Given the description of an element on the screen output the (x, y) to click on. 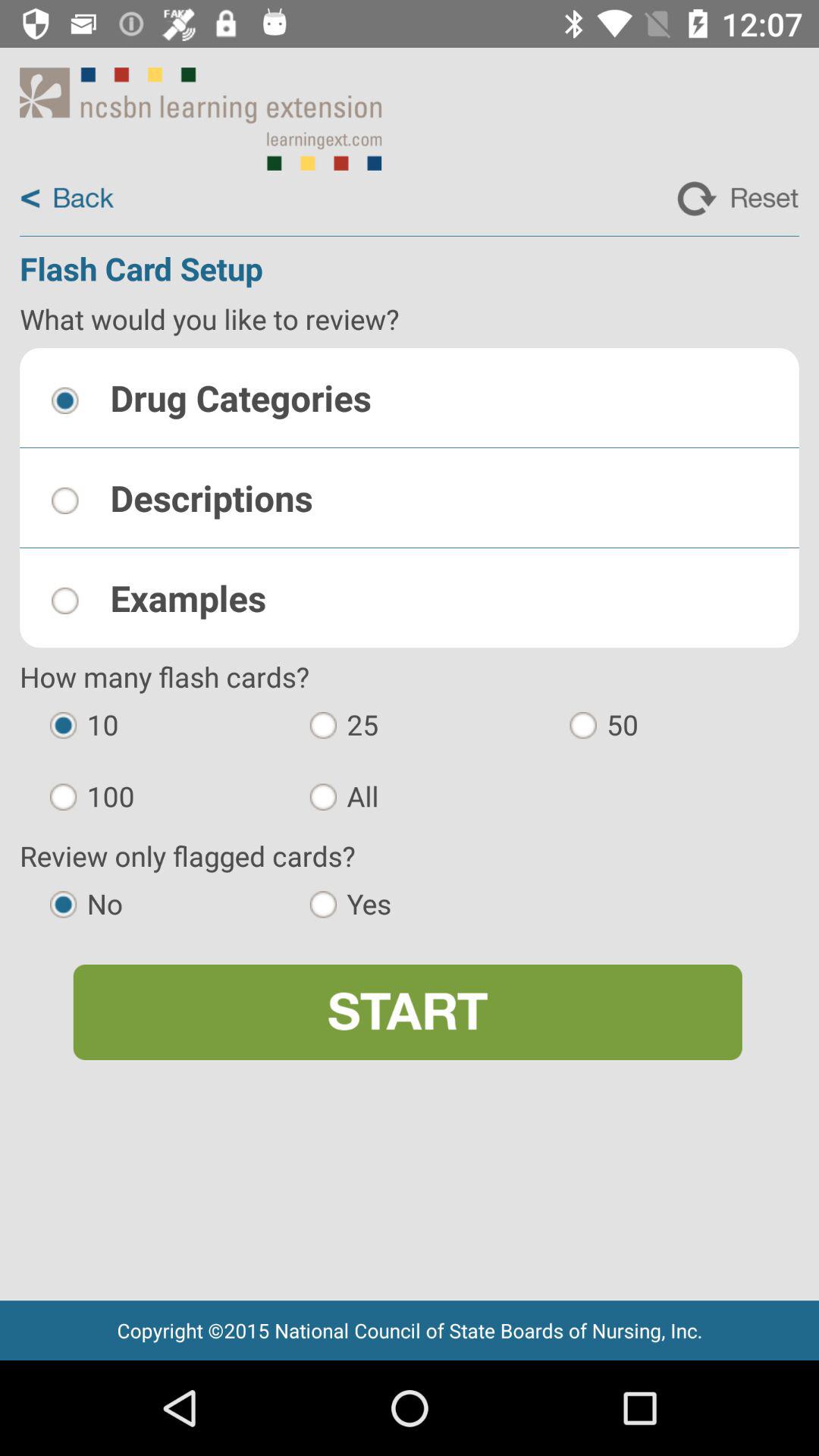
start option (407, 1012)
